Given the description of an element on the screen output the (x, y) to click on. 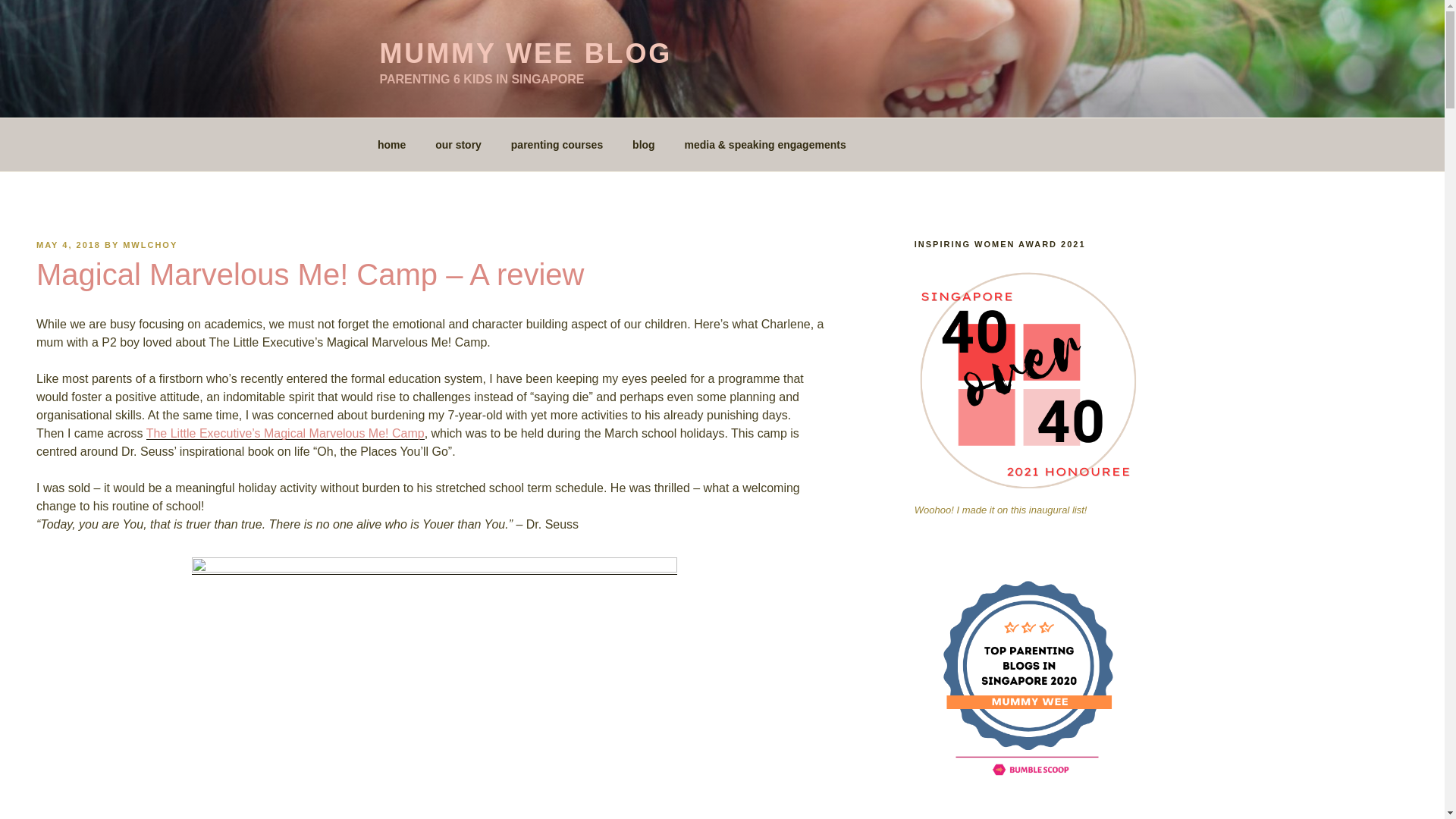
our story (458, 144)
MWLCHOY (149, 244)
blog (644, 144)
2021 Inspiring Women Award (1027, 380)
parenting courses (556, 144)
MUMMY WEE BLOG (524, 52)
home (391, 144)
MAY 4, 2018 (68, 244)
